Given the description of an element on the screen output the (x, y) to click on. 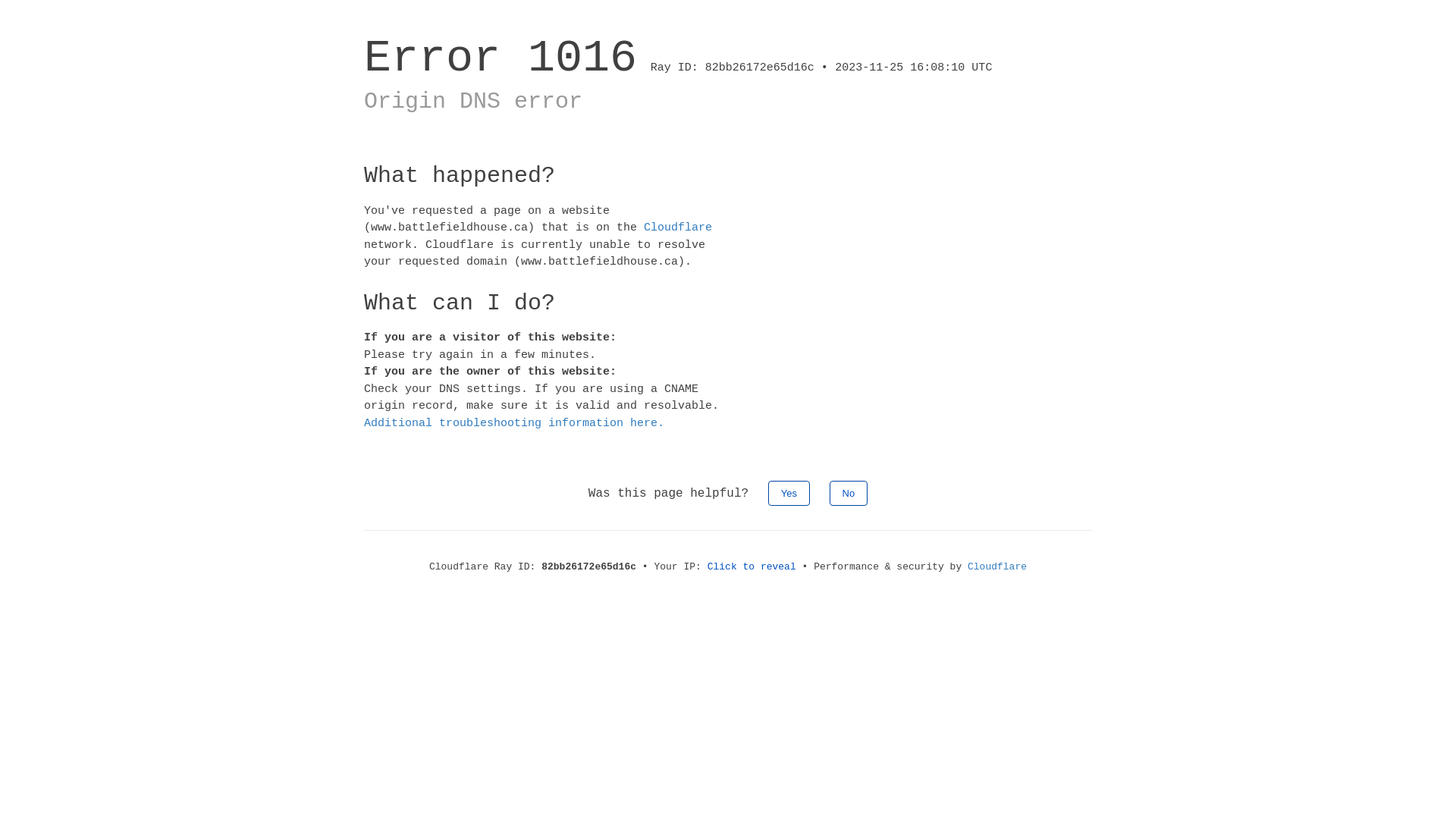
Cloudflare Element type: text (996, 566)
Yes Element type: text (788, 492)
Click to reveal Element type: text (751, 566)
Additional troubleshooting information here. Element type: text (514, 423)
Cloudflare Element type: text (677, 227)
No Element type: text (848, 492)
